Given the description of an element on the screen output the (x, y) to click on. 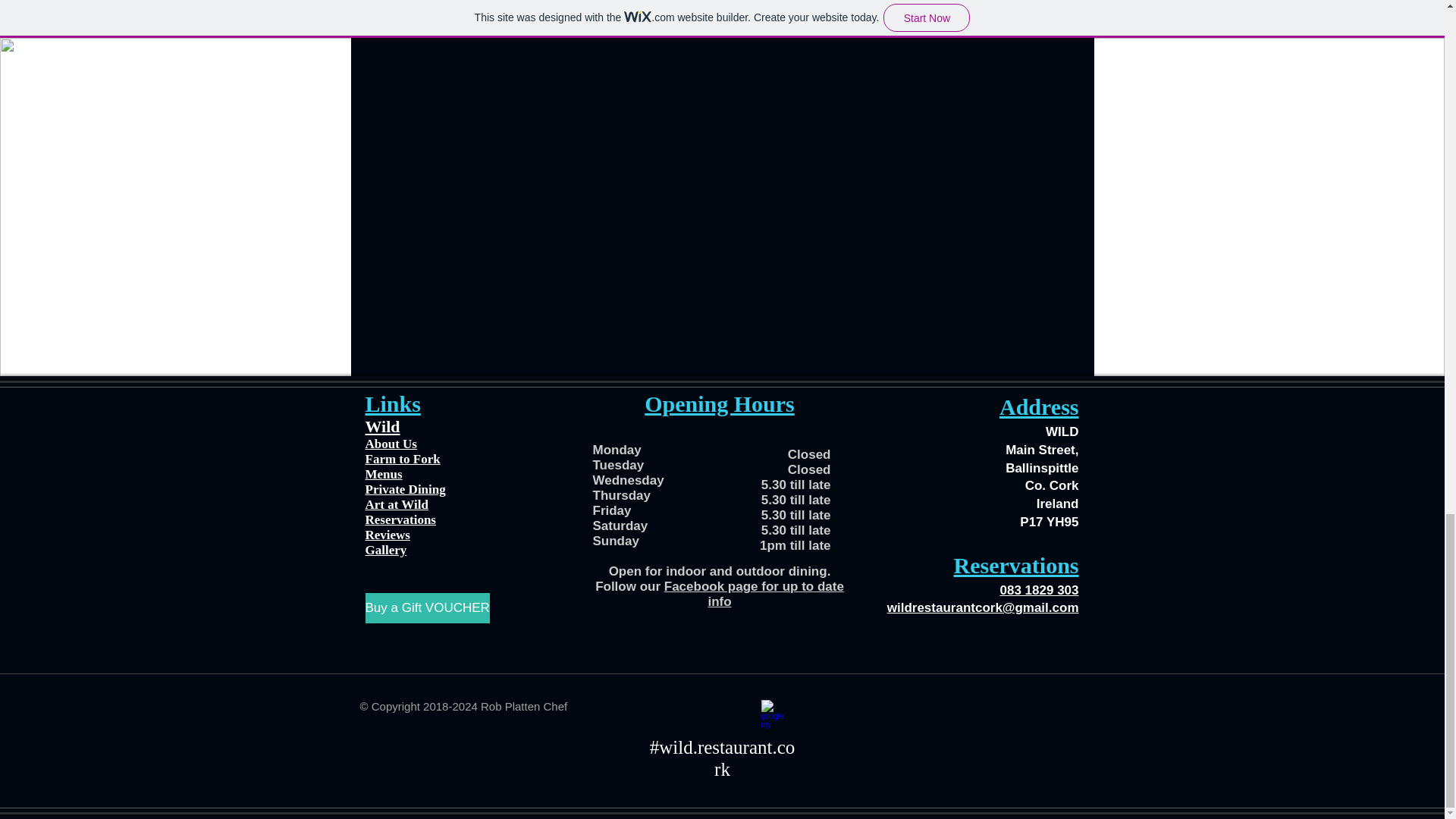
Facebook page for up to date info (753, 594)
Farm to Fork (403, 459)
Reservations (400, 519)
Menus (384, 473)
About Us (391, 443)
083 1829 303 (1038, 590)
Reviews (387, 534)
Wild (382, 425)
Main Street, (1042, 450)
Buy a Gift VOUCHER (427, 607)
Gallery (386, 549)
Private Dining (405, 489)
Art at Wild (396, 504)
